Given the description of an element on the screen output the (x, y) to click on. 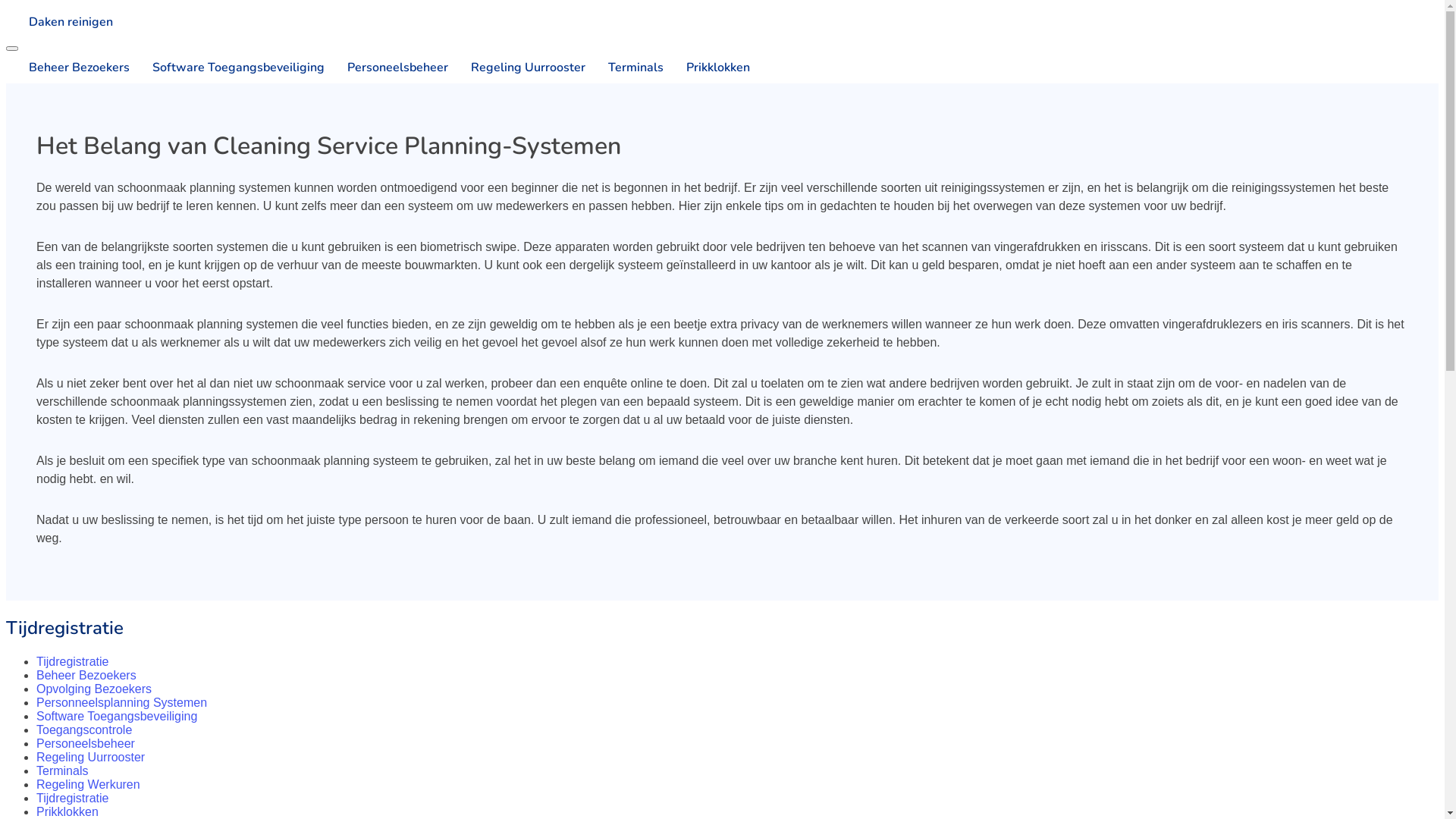
Tijdregistratie Element type: text (72, 661)
Regeling Uurrooster Element type: text (90, 756)
Software Toegangsbeveiliging Element type: text (226, 67)
Software Toegangsbeveiliging Element type: text (116, 715)
Terminals Element type: text (624, 67)
Beheer Bezoekers Element type: text (67, 67)
Prikklokken Element type: text (67, 811)
Personneelsplanning Systemen Element type: text (121, 702)
Toegangscontrole Element type: text (83, 729)
Daken reinigen Element type: text (722, 21)
Terminals Element type: text (61, 770)
Beheer Bezoekers Element type: text (86, 674)
Regeling Uurrooster Element type: text (516, 67)
Regeling Werkuren Element type: text (88, 784)
Opvolging Bezoekers Element type: text (93, 688)
Tijdregistratie Element type: text (72, 797)
Personeelsbeheer Element type: text (85, 743)
Prikklokken Element type: text (706, 67)
Personeelsbeheer Element type: text (386, 67)
